Given the description of an element on the screen output the (x, y) to click on. 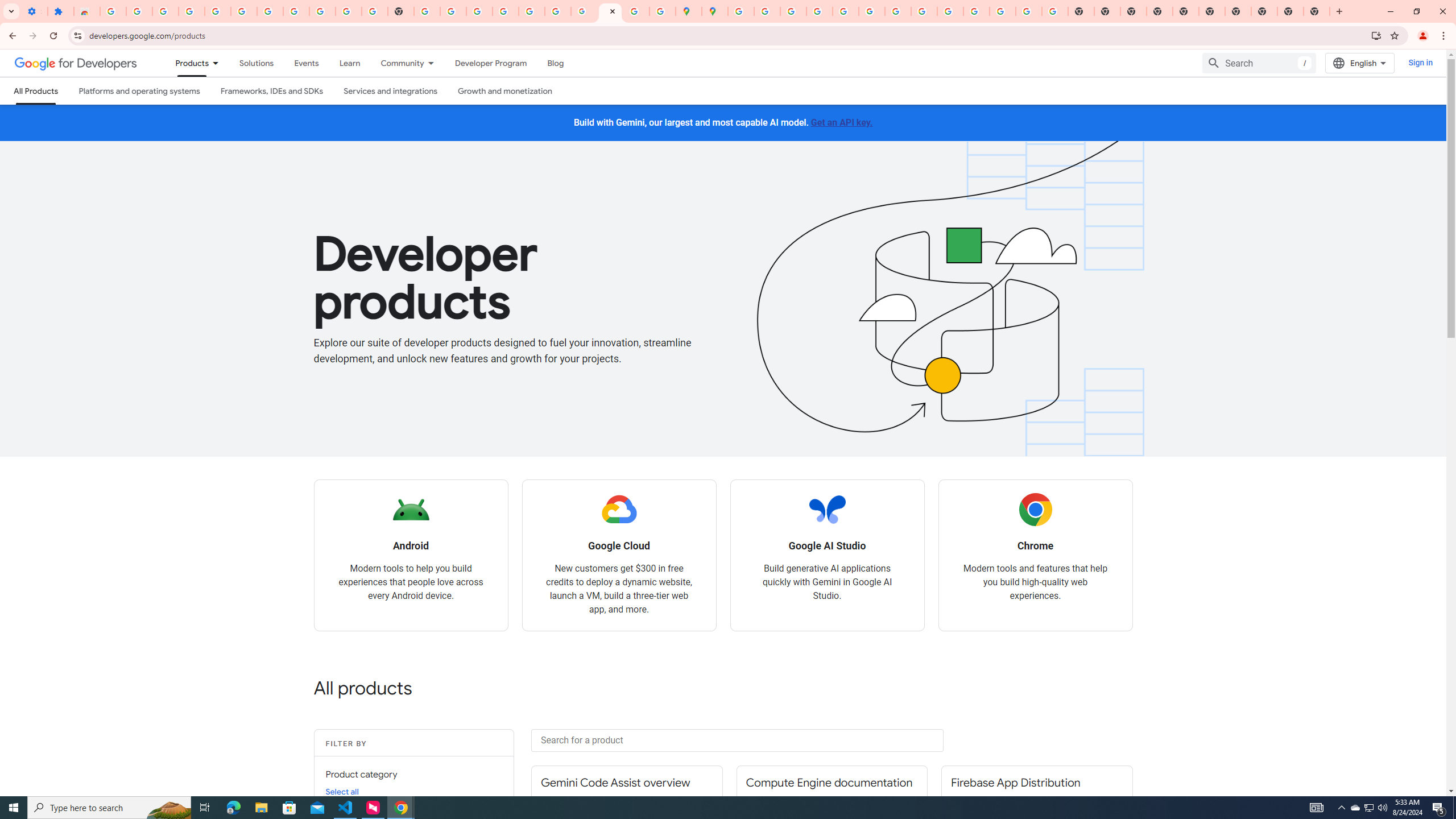
https://scholar.google.com/ (427, 11)
Google for Developers (75, 63)
Blog (556, 62)
Growth and monetization (504, 90)
Delete photos & videos - Computer - Google Photos Help (191, 11)
